Given the description of an element on the screen output the (x, y) to click on. 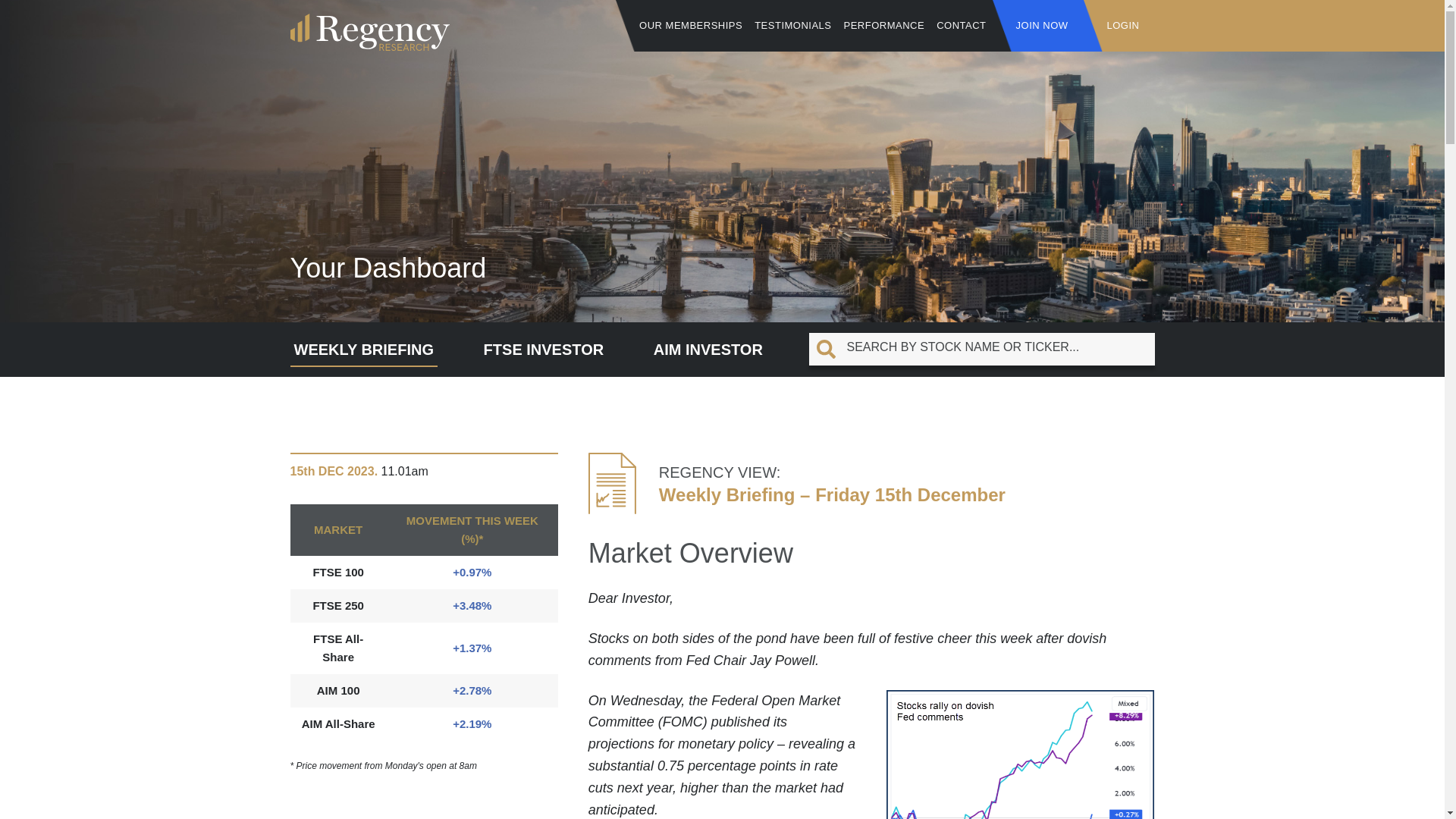
CONTACT (960, 25)
TESTIMONIALS (792, 25)
AIM INVESTOR (708, 344)
FTSE INVESTOR (544, 344)
JOIN NOW (1042, 25)
OUR MEMBERSHIPS (690, 25)
Search (173, 18)
WEEKLY BRIEFING (362, 344)
PERFORMANCE (884, 25)
